Given the description of an element on the screen output the (x, y) to click on. 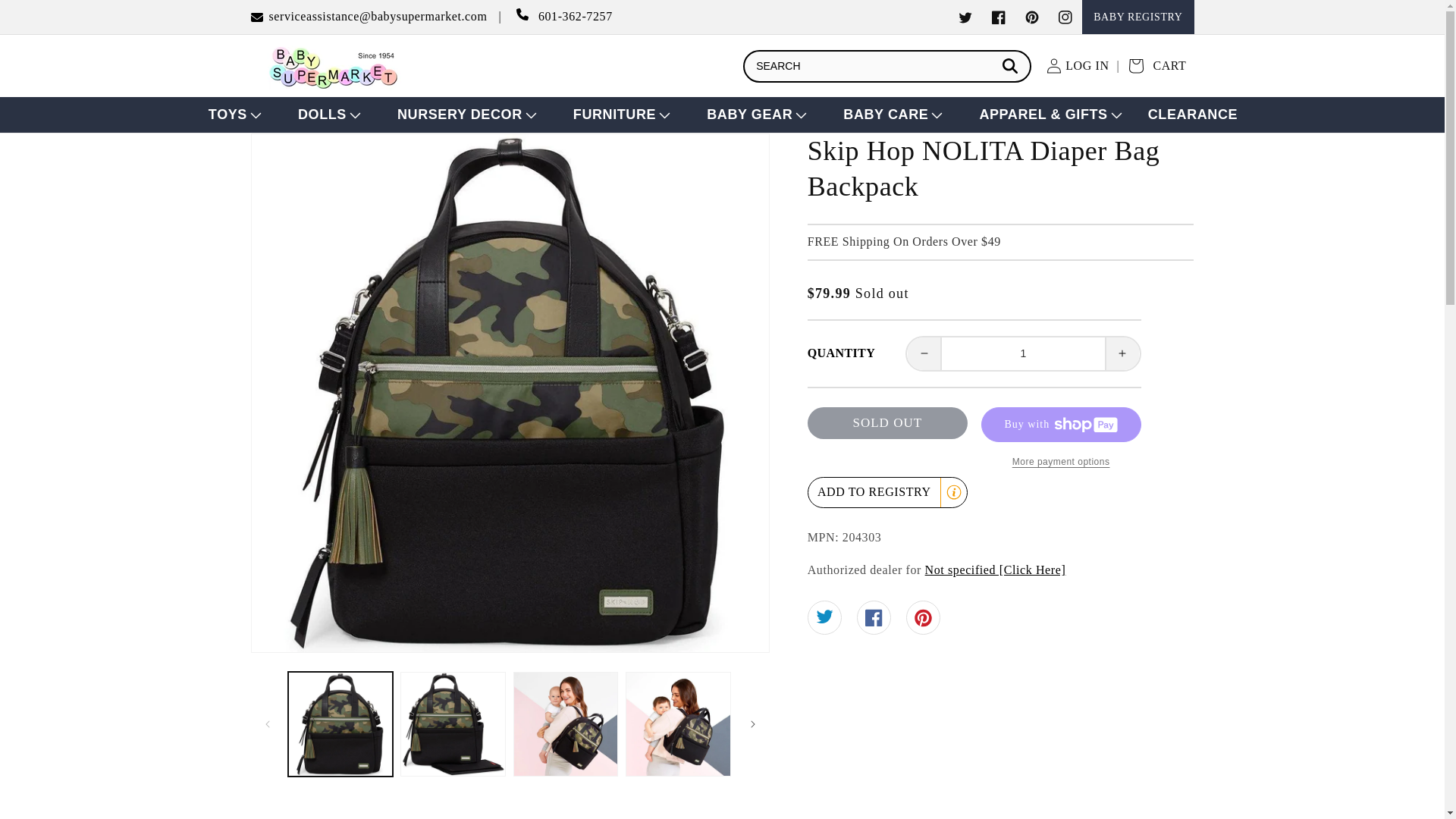
Skip to content (45, 17)
Twitter (965, 16)
1 (1023, 353)
BABY REGISTRY (1137, 17)
Facebook (997, 16)
Instagram (1064, 16)
Pinterest (1031, 16)
